Given the description of an element on the screen output the (x, y) to click on. 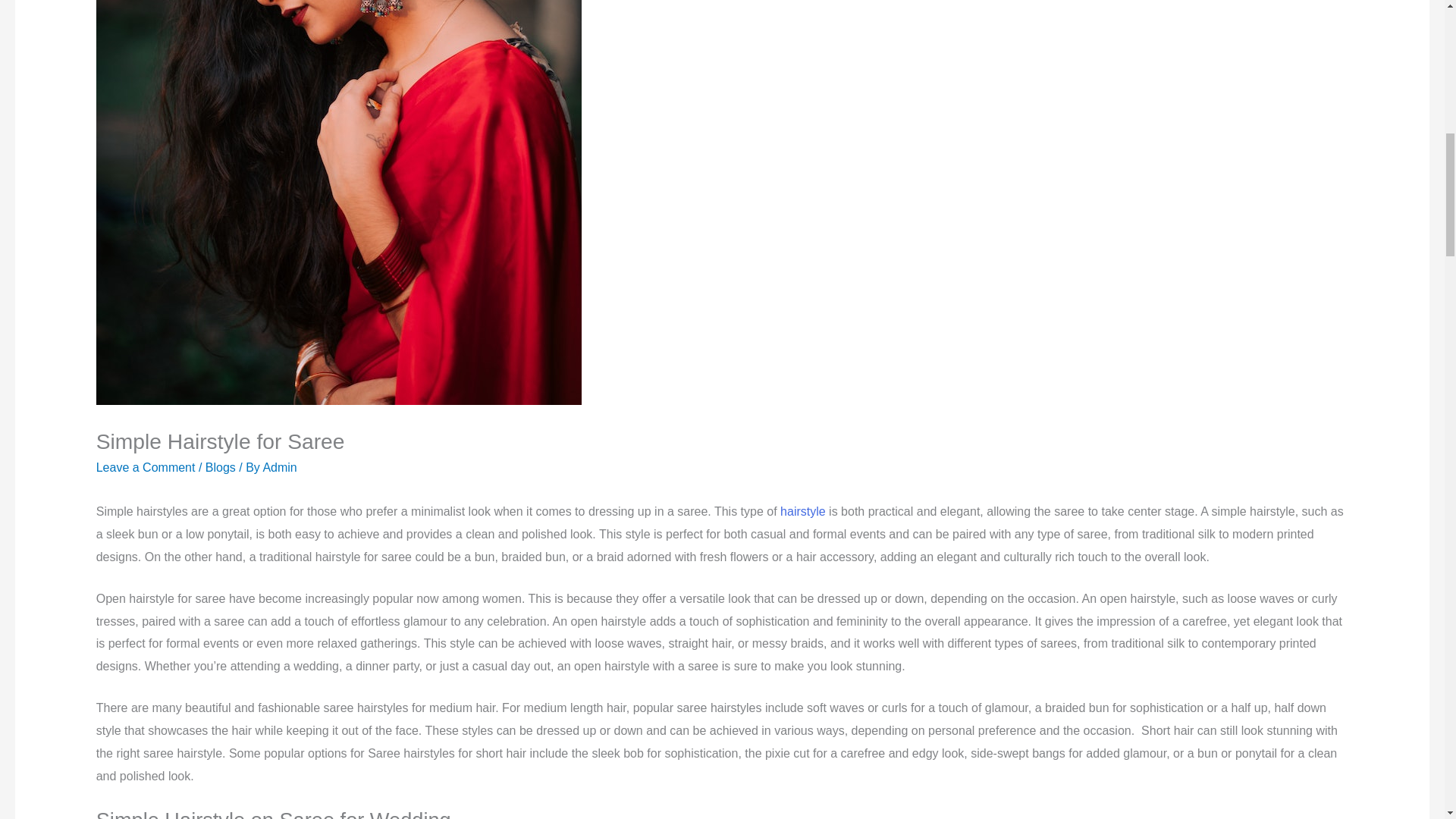
Admin (279, 467)
Blogs (220, 467)
Leave a Comment (145, 467)
hairstyle (802, 511)
View all posts by Admin (279, 467)
